Given the description of an element on the screen output the (x, y) to click on. 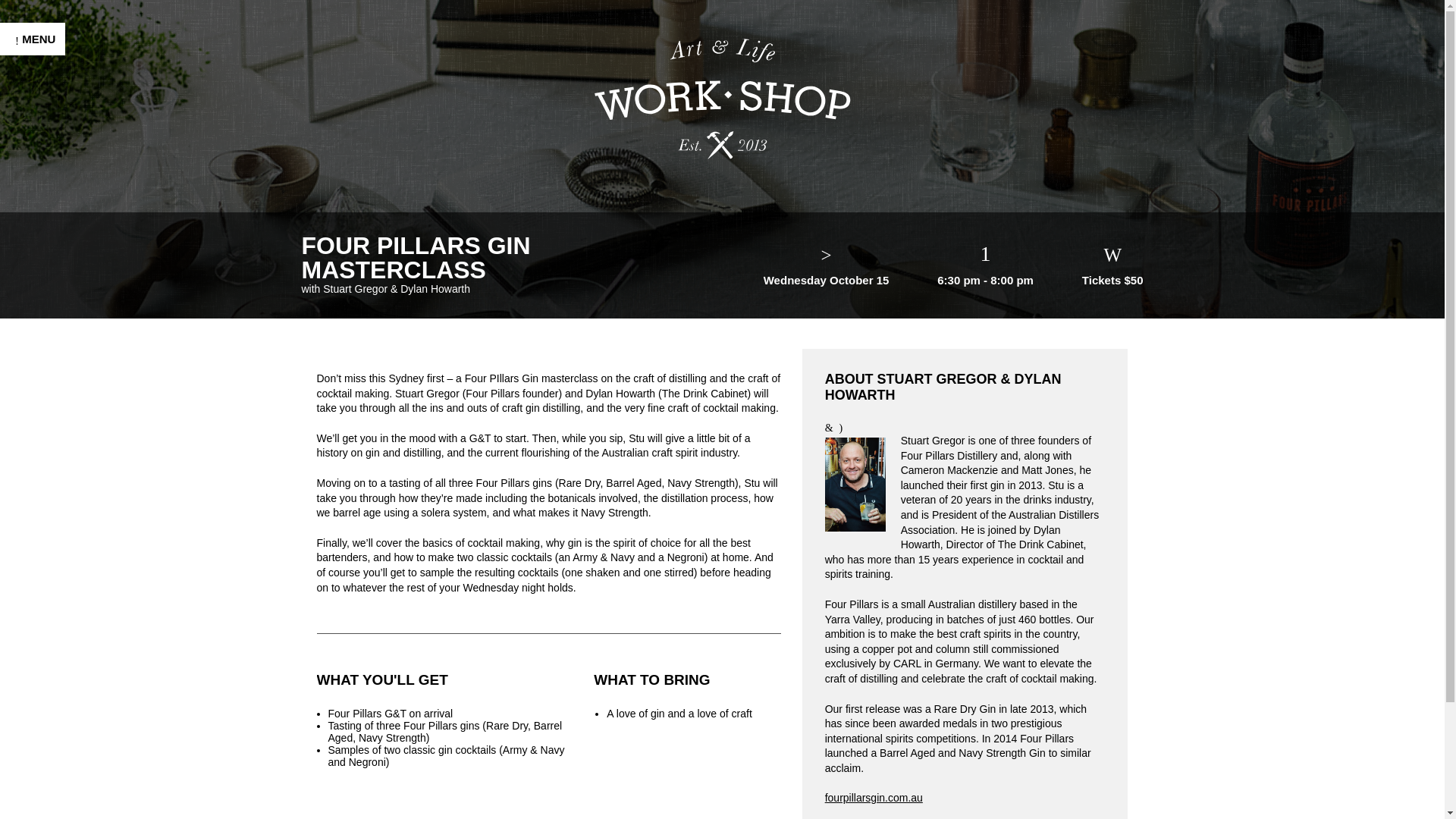
TEACH (37, 471)
HENS ACTIVITIES (72, 299)
TEAM BUILDING (67, 268)
BLOG (33, 564)
MENU (32, 38)
fourpillarsgin.com.au (874, 797)
VENUE HIRE MELBOURNE (57, 400)
Scott Lyttle (116, 799)
PRESS (37, 502)
Work-Shop (722, 97)
HOME (35, 206)
GIFT VOUCHERS (71, 440)
CLASSES (46, 237)
CONTACT (47, 595)
ACTIVATIONS (58, 331)
